Given the description of an element on the screen output the (x, y) to click on. 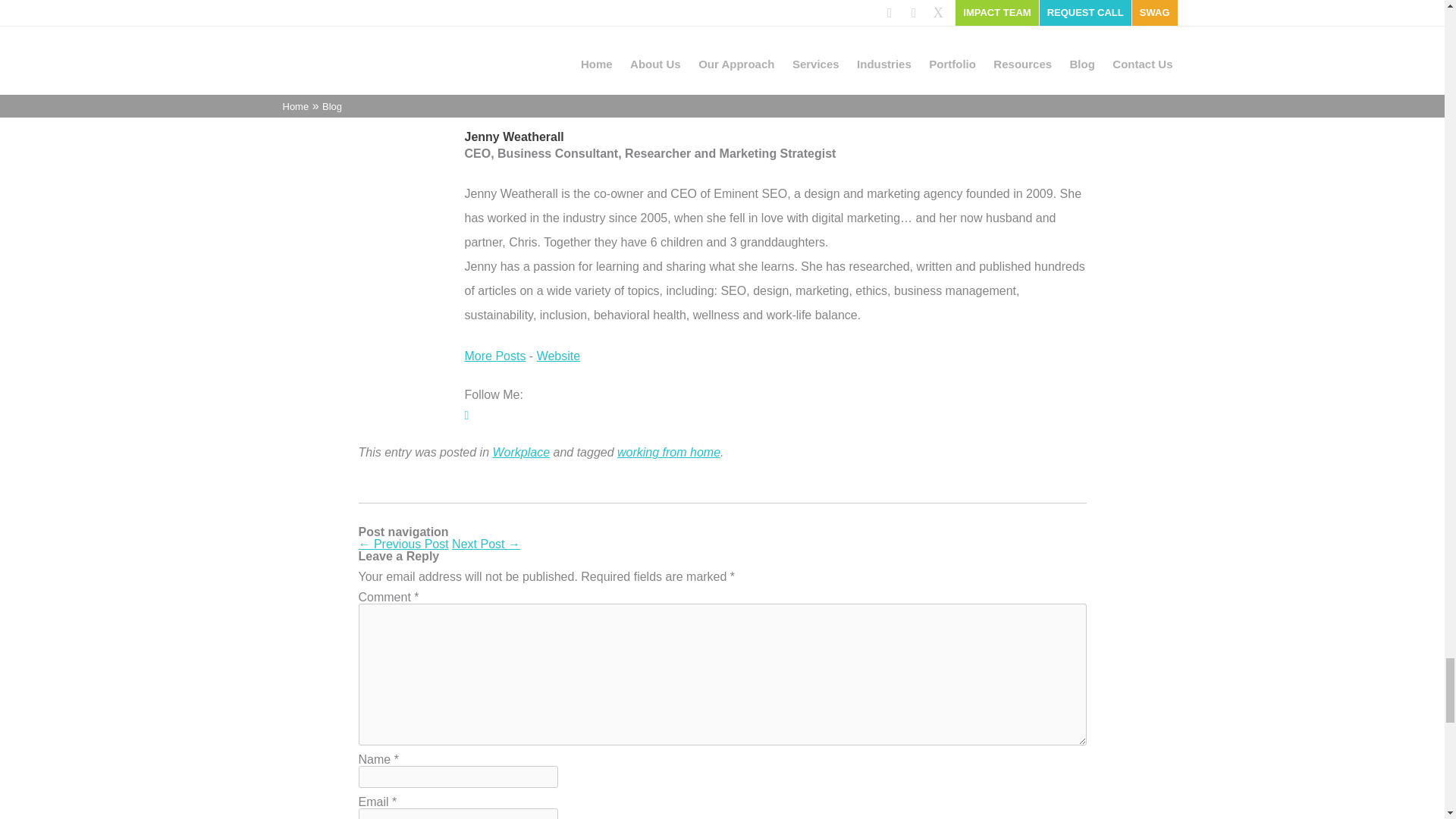
More posts by Jenny Weatherall (494, 355)
Jenny Weatherall (513, 136)
Vol. 115: Creative Inspiration Ideas for You (485, 543)
Vol. 114: Best Business Advice for Business Owners (403, 543)
Jenny Weatherall (558, 355)
Gravatar for Jenny Weatherall (395, 84)
